Given the description of an element on the screen output the (x, y) to click on. 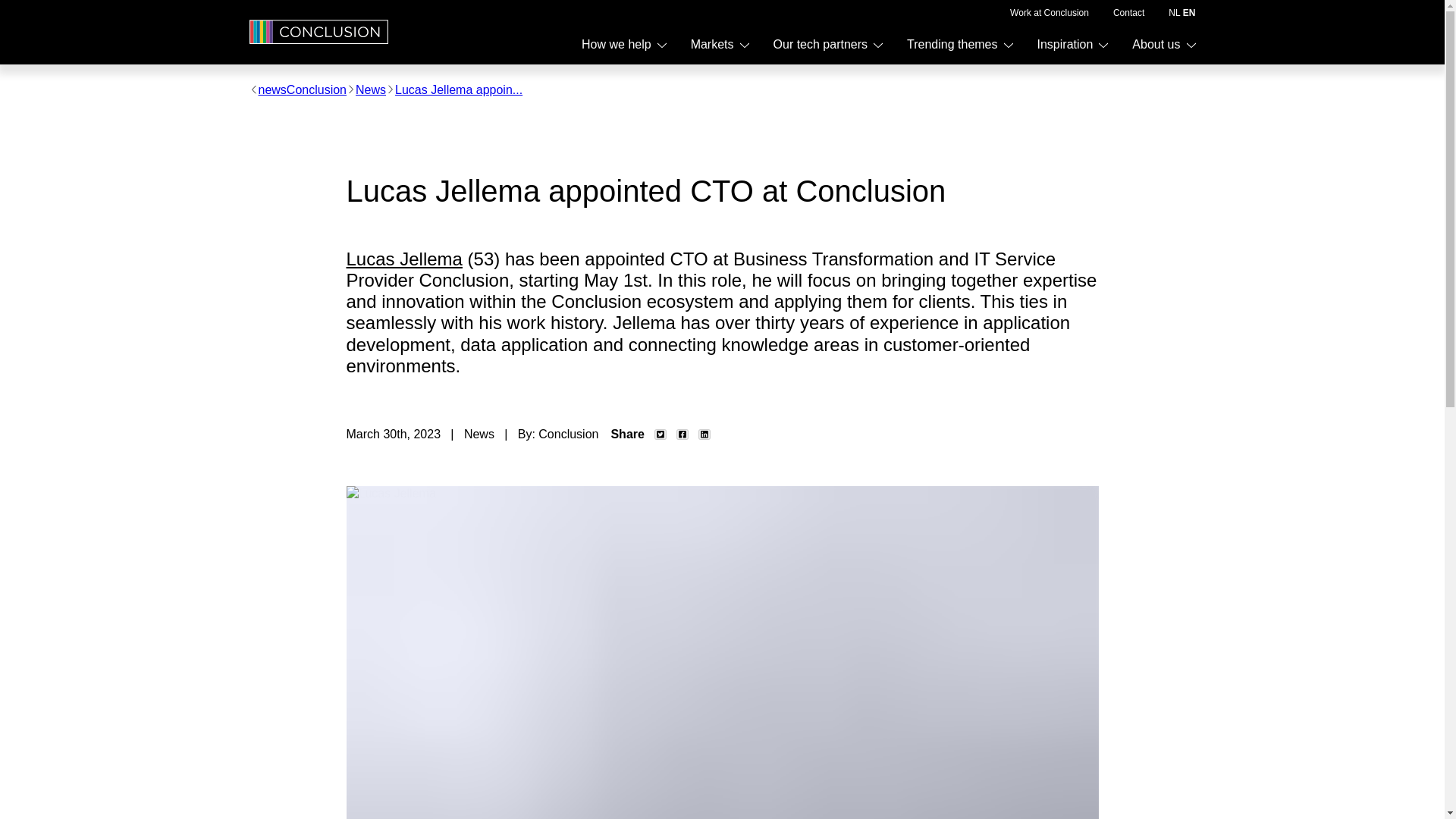
Contact (1128, 12)
News (370, 89)
LinkedIn (704, 434)
Work at Conclusion (1049, 12)
news (271, 89)
Lucas Jellema appoin... (458, 89)
Facebook (682, 434)
Lucas Jellema (403, 258)
EN (1188, 12)
NL (1174, 12)
